Given the description of an element on the screen output the (x, y) to click on. 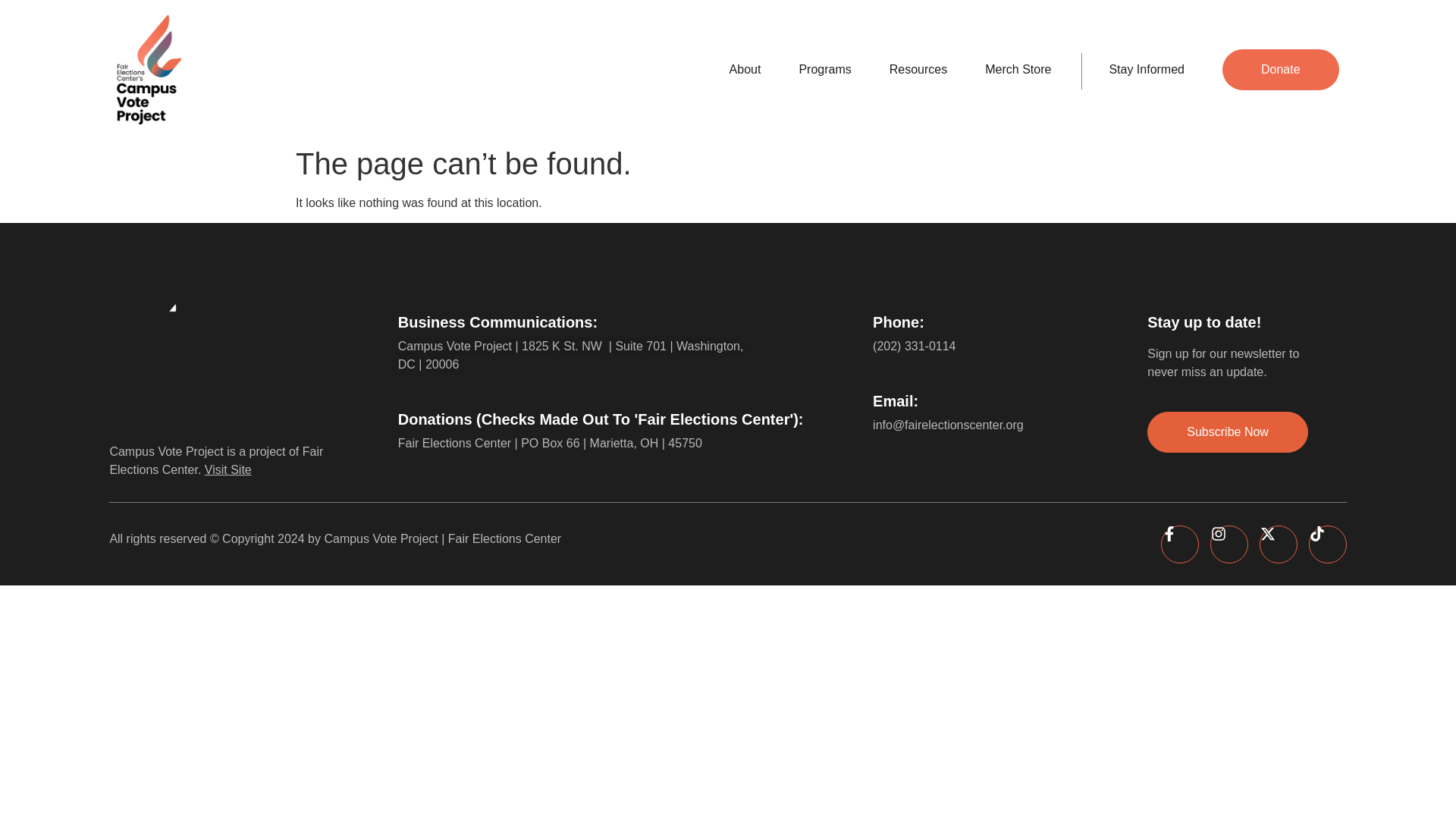
Stay Informed (1146, 69)
Donate (1281, 69)
Merch Store (1018, 69)
Resources (918, 69)
Programs (823, 69)
